Given the description of an element on the screen output the (x, y) to click on. 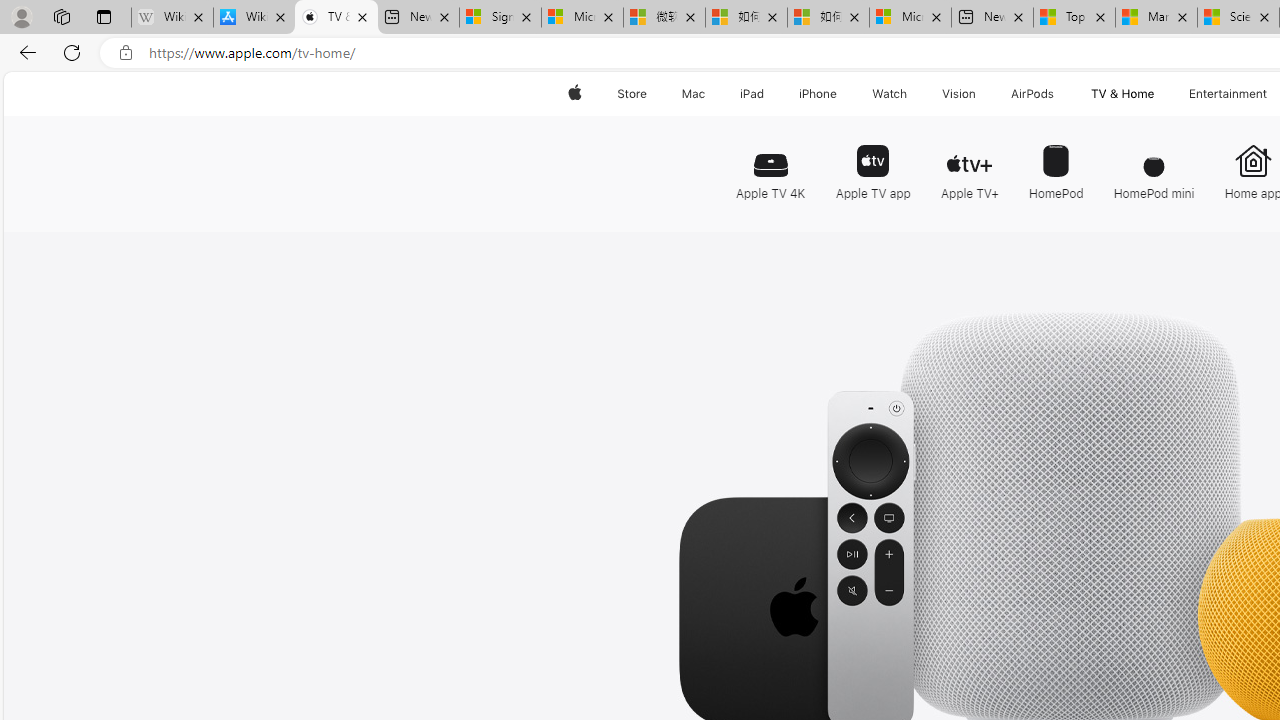
Wikipedia - Sleeping (171, 17)
iPhone menu (840, 93)
AirPods (1032, 93)
Sign in to your Microsoft account (500, 17)
TV & Home - Apple (336, 17)
iPad (750, 93)
iPad menu (767, 93)
HomePod (1056, 162)
Apple TV app (872, 162)
